Given the description of an element on the screen output the (x, y) to click on. 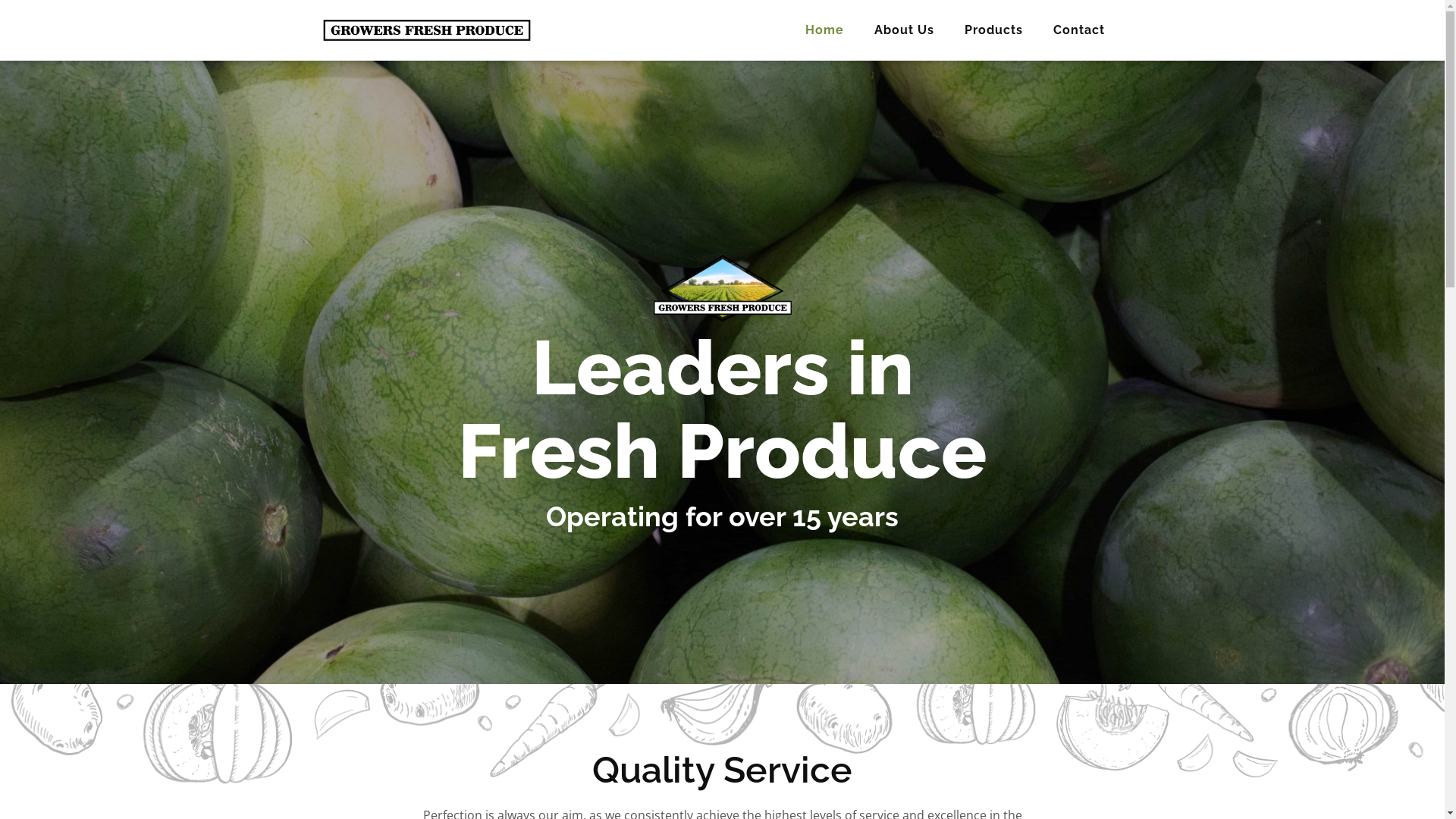
About Us Element type: text (903, 29)
Contact Element type: text (1078, 29)
Products Element type: text (993, 29)
Home Element type: text (824, 29)
